Given the description of an element on the screen output the (x, y) to click on. 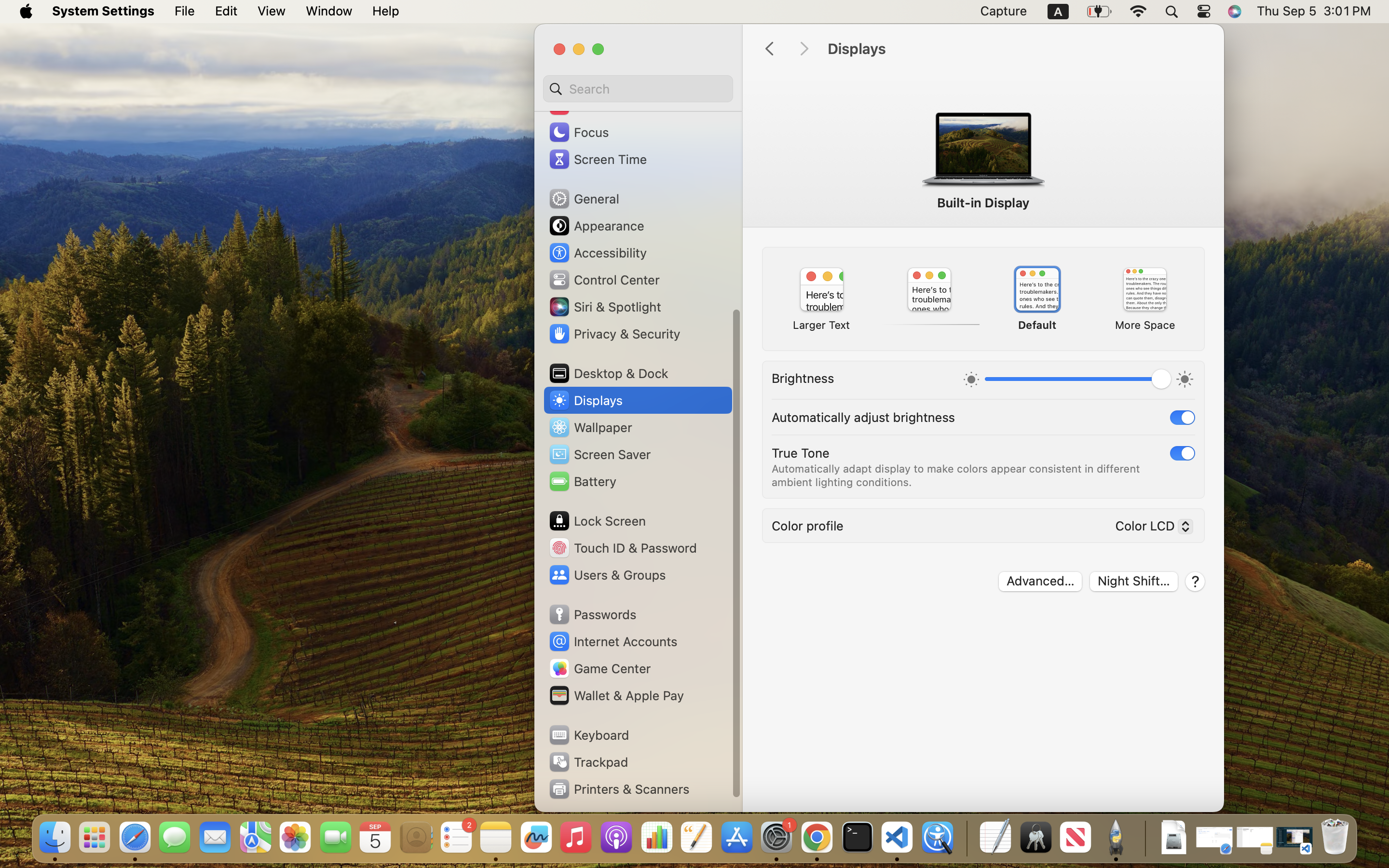
Siri & Spotlight Element type: AXStaticText (603, 306)
Automatically adjust brightness Element type: AXStaticText (862, 416)
Appearance Element type: AXStaticText (595, 225)
Screen Time Element type: AXStaticText (597, 158)
Brightness Element type: AXStaticText (802, 377)
